Given the description of an element on the screen output the (x, y) to click on. 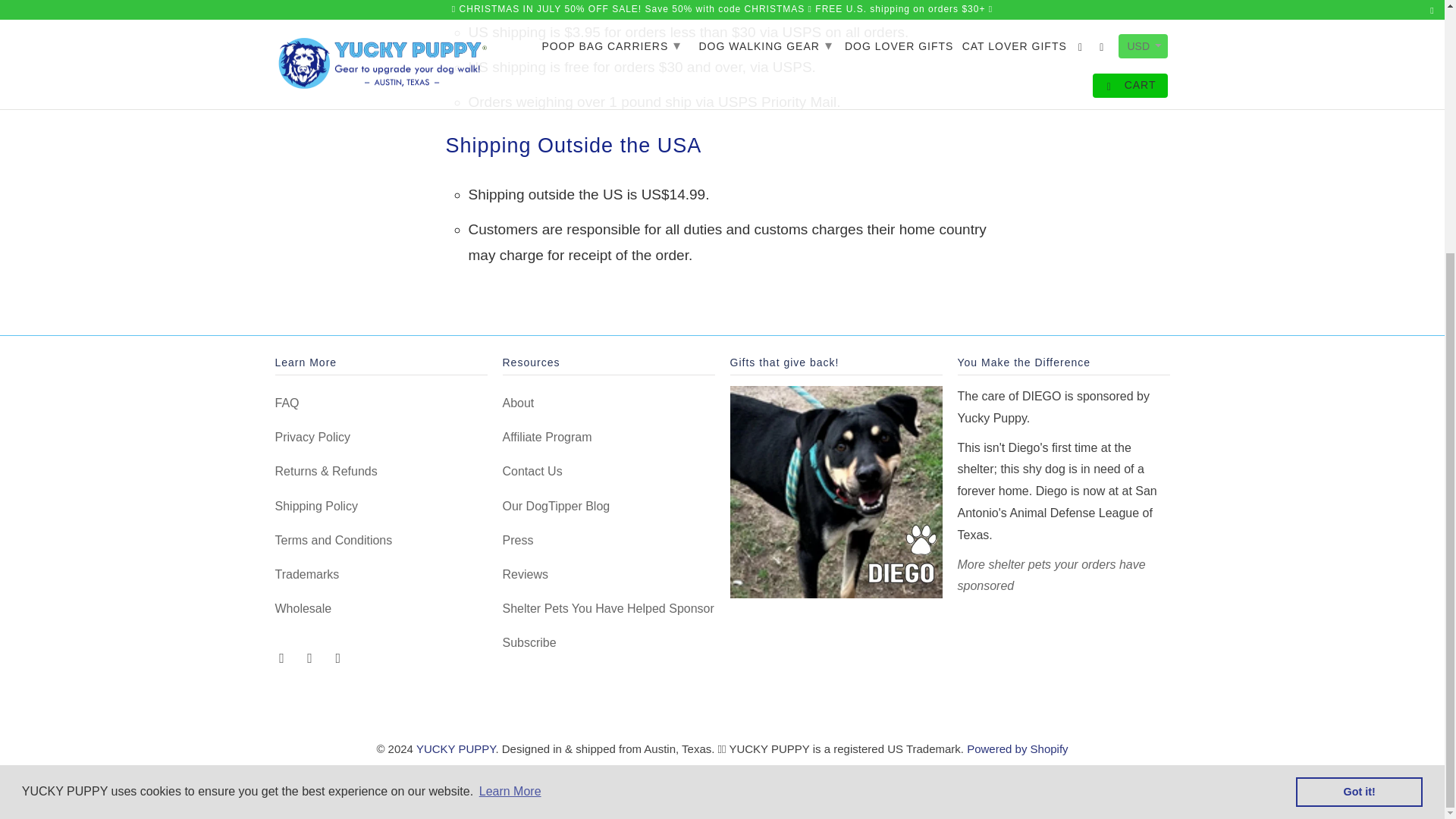
Discover (658, 781)
Trademarks (307, 574)
Learn More (510, 433)
Terms and Conditions (333, 540)
Shop Pay (871, 781)
Mastercard (786, 781)
American Express (530, 781)
Diners Club (614, 781)
Privacy Policy (312, 436)
YUCKY PUPPY on Instagram (311, 657)
FAQ (286, 402)
Amazon (488, 781)
Apple Pay (572, 781)
Sponsored Pets (1050, 574)
PayPal (828, 781)
